Given the description of an element on the screen output the (x, y) to click on. 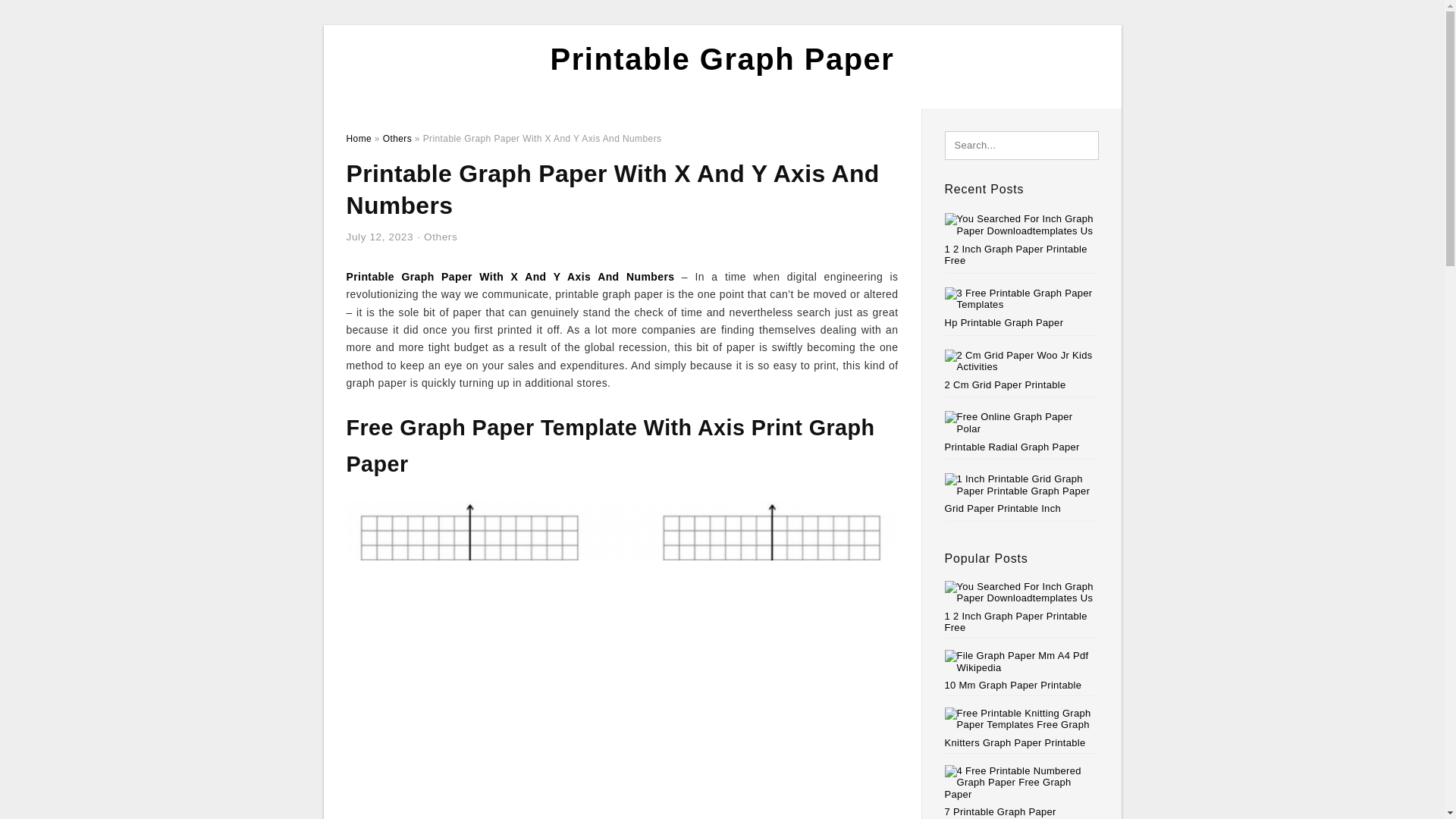
Others (397, 138)
Hp Printable Graph Paper (1004, 322)
1 2 Inch Graph Paper Printable Free (1021, 606)
Printable Graph Paper With X And Y Axis And Numbers (510, 276)
1 2 Inch Graph Paper Printable Free (1015, 254)
2 Cm Grid Paper Printable (1004, 384)
Others (440, 236)
Search (43, 15)
Printable Radial Graph Paper (1012, 446)
Home (358, 138)
Grid Paper Printable Inch (1002, 508)
Printable Graph Paper (722, 59)
